Given the description of an element on the screen output the (x, y) to click on. 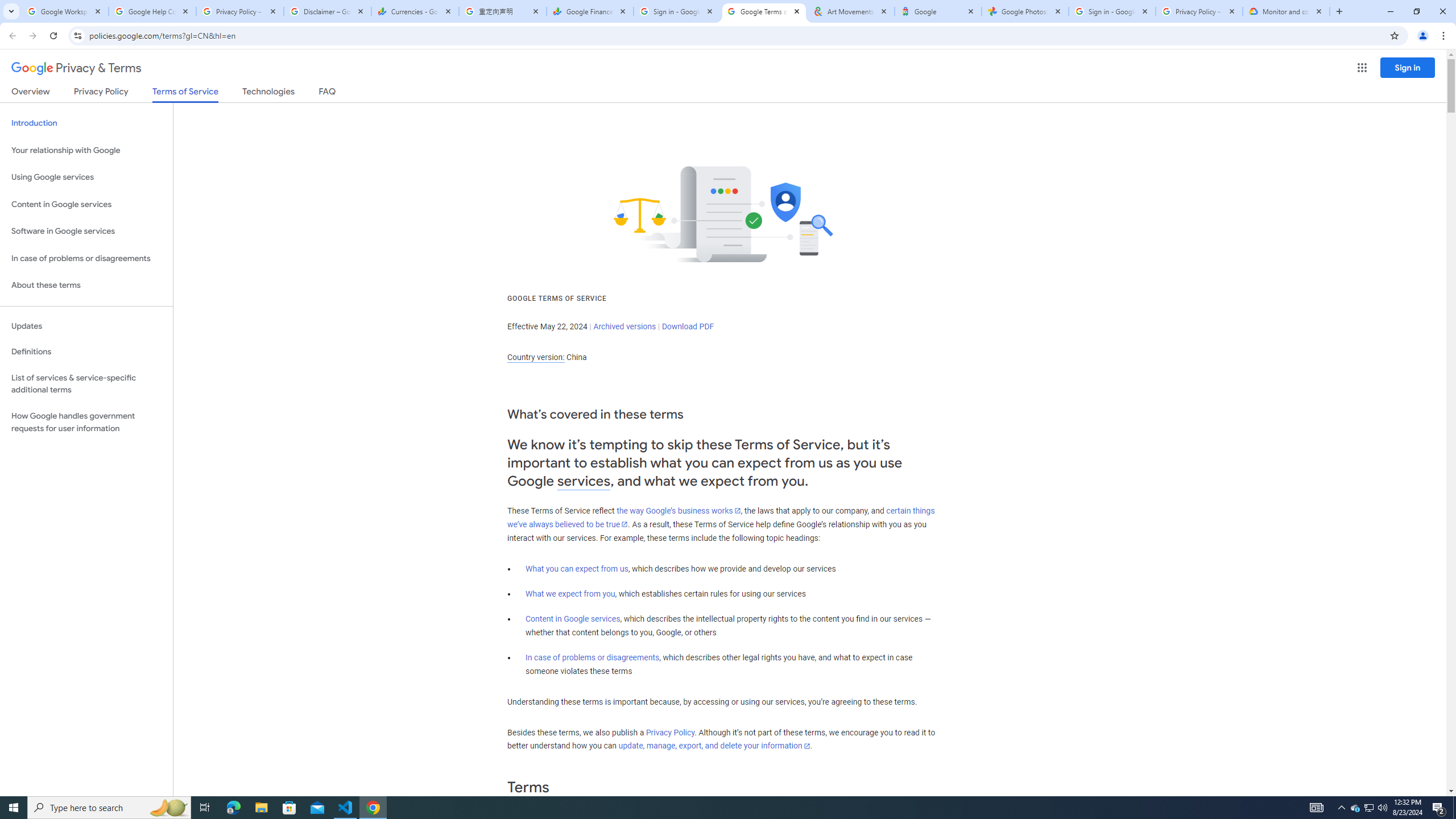
Updates (86, 325)
Privacy & Terms (76, 68)
Download PDF (687, 326)
What we expect from you (570, 593)
update, manage, export, and delete your information (714, 746)
Your relationship with Google (86, 150)
Sign in - Google Accounts (1111, 11)
Definitions (86, 352)
services (583, 480)
How Google handles government requests for user information (86, 422)
FAQ (327, 93)
